Given the description of an element on the screen output the (x, y) to click on. 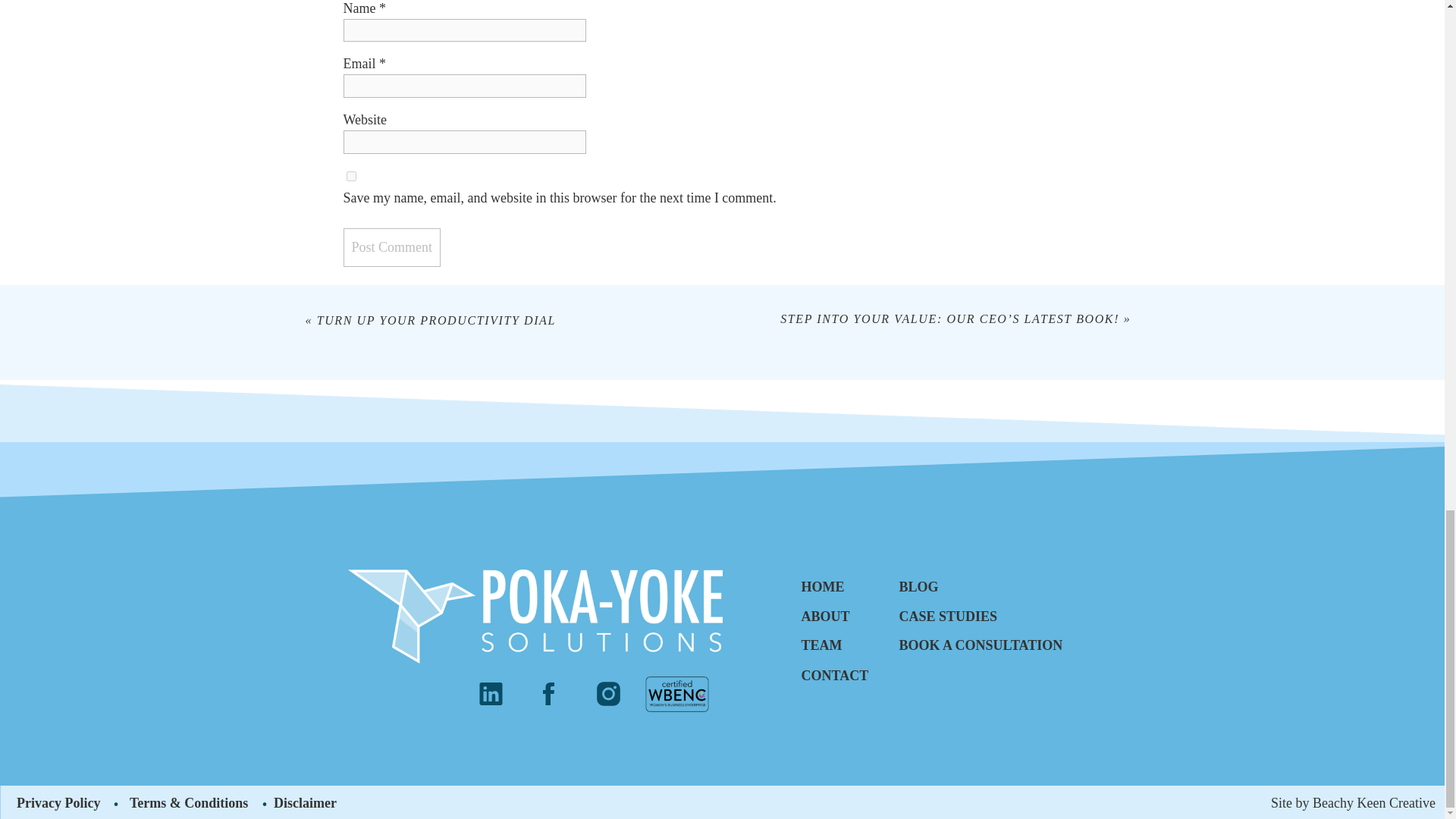
BLOG (951, 584)
Privacy Policy (63, 800)
CONTACT (847, 673)
CASE STUDIES (951, 614)
ABOUT (847, 614)
Site by Beachy Keen Creative (1326, 800)
yes (350, 175)
TEAM (847, 642)
HOME (847, 584)
TURN UP YOUR PRODUCTIVITY DIAL (436, 319)
